Given the description of an element on the screen output the (x, y) to click on. 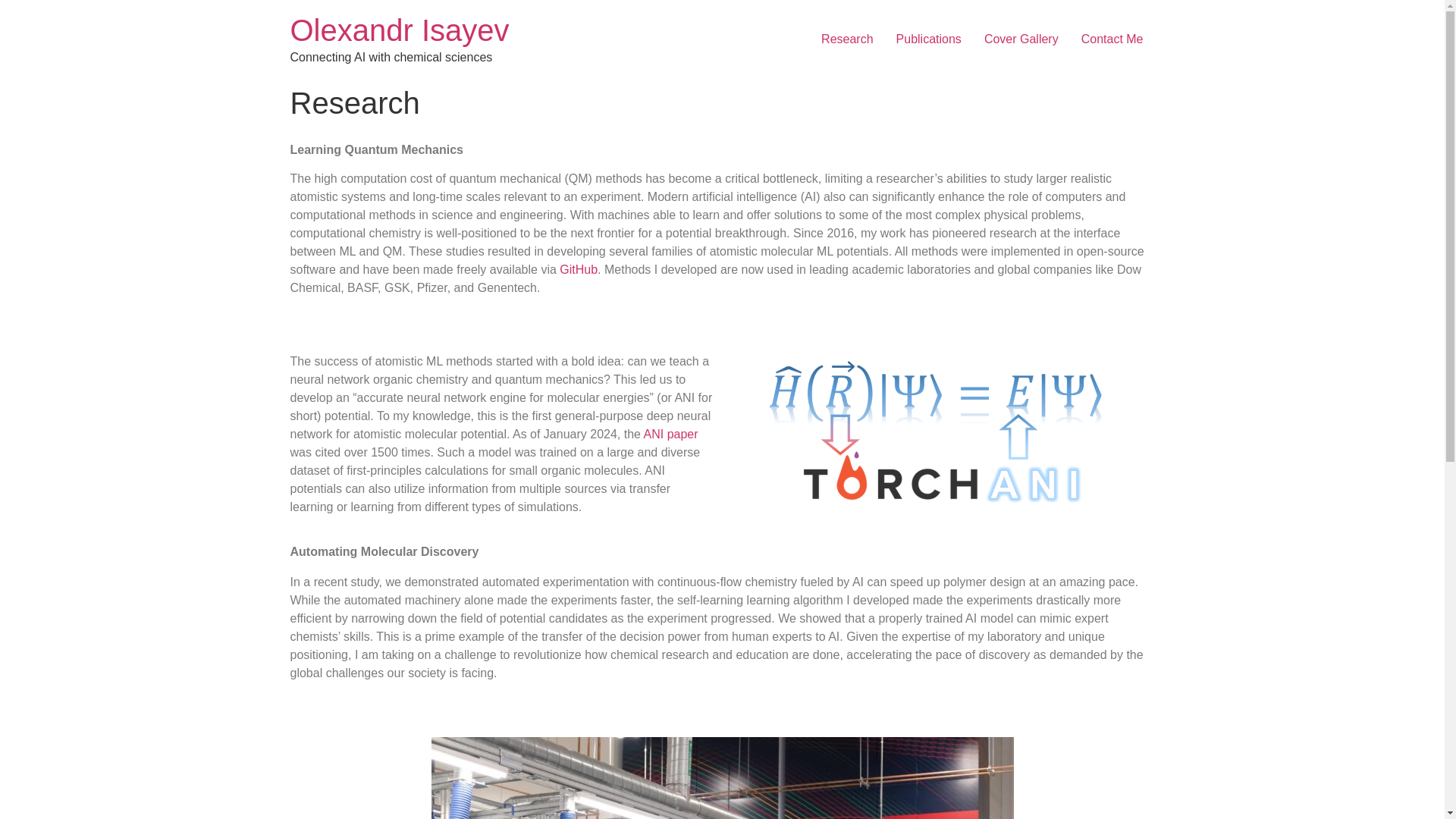
GitHub (577, 269)
Cover Gallery (1021, 39)
ANI paper (670, 433)
Research 1 (941, 427)
Publications (928, 39)
Contact Me (1112, 39)
Research (846, 39)
Home (398, 29)
Olexandr Isayev (398, 29)
Research 2 (721, 778)
